Given the description of an element on the screen output the (x, y) to click on. 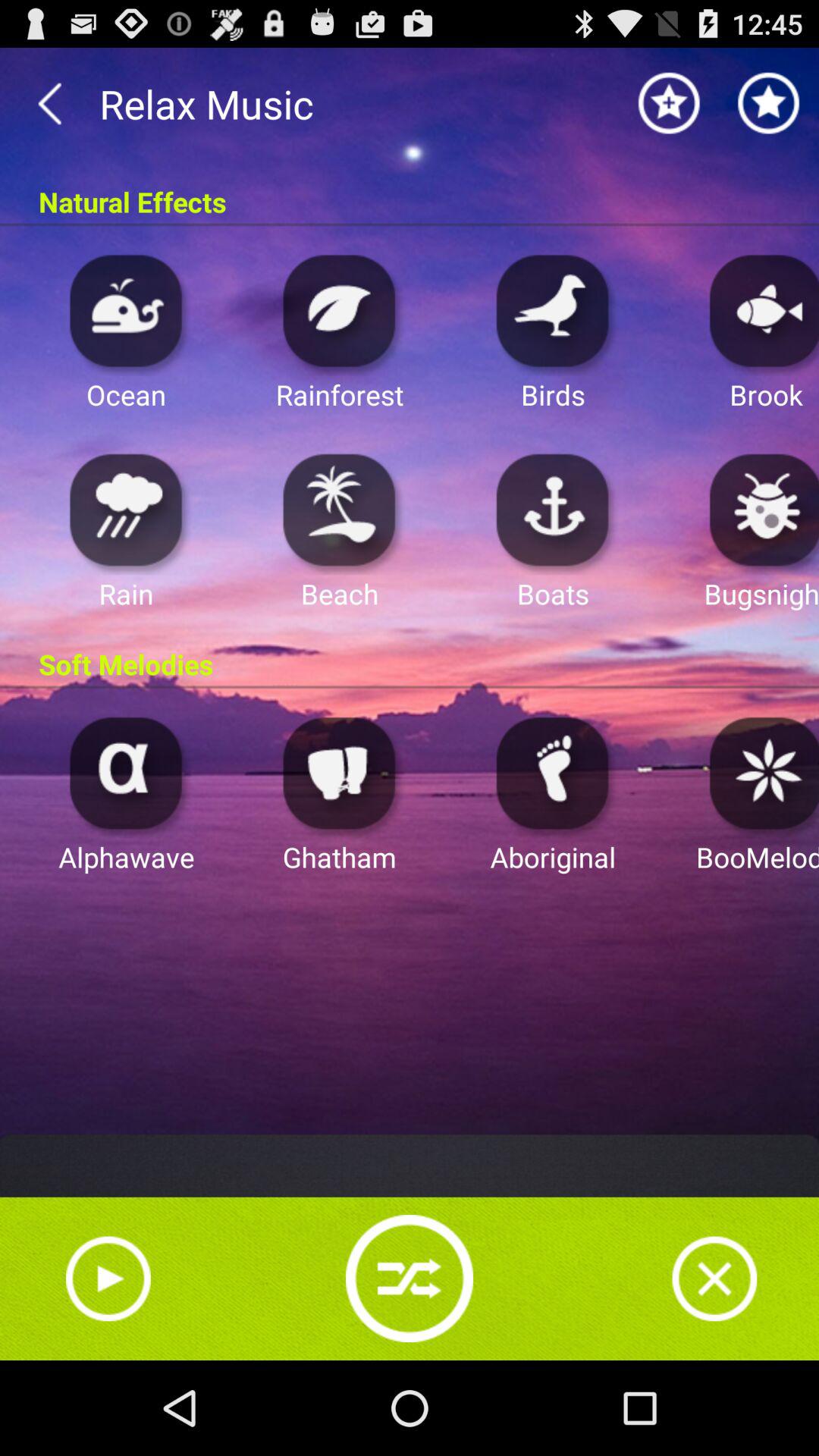
to take the ghatham (339, 772)
